Given the description of an element on the screen output the (x, y) to click on. 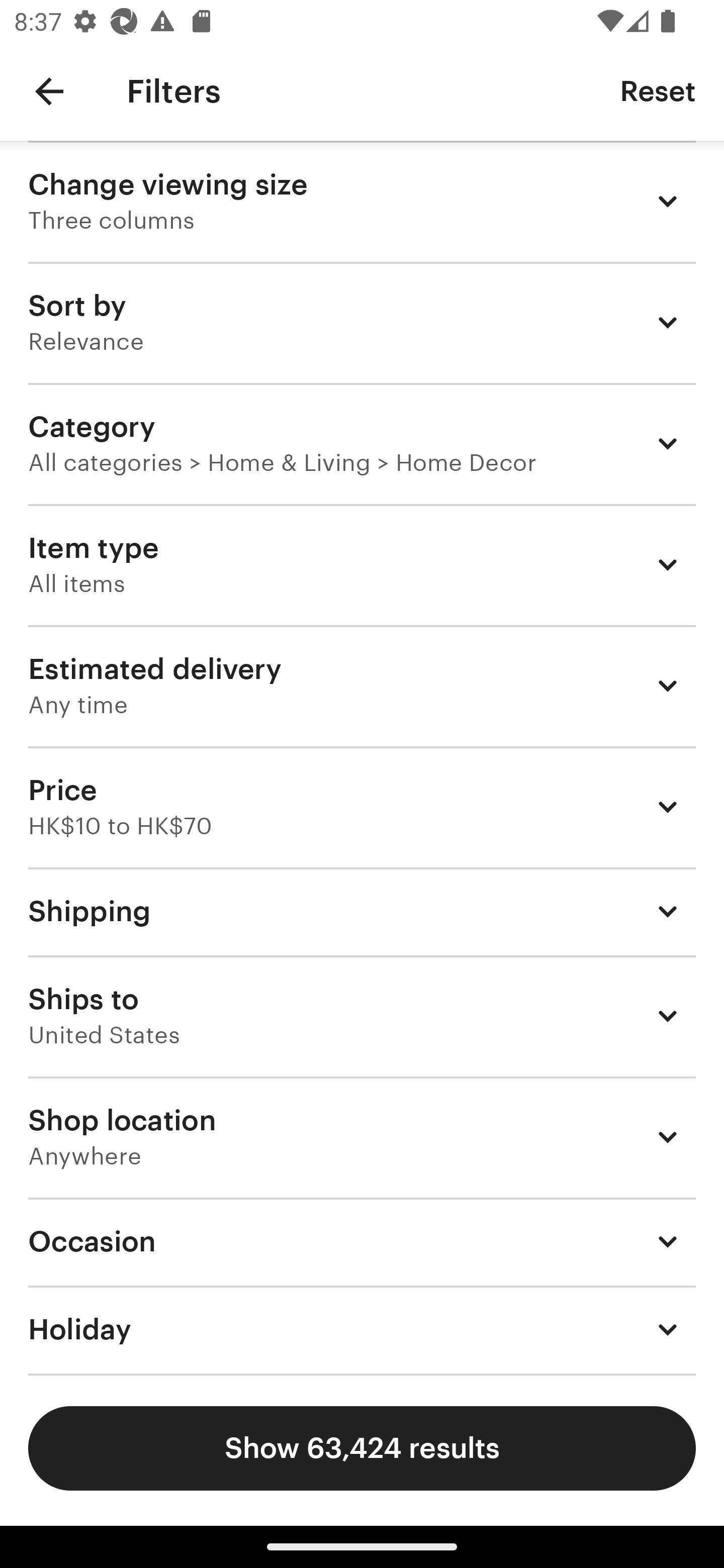
Navigate up (49, 91)
Reset (657, 90)
Change viewing size Three columns (362, 201)
Sort by Relevance (362, 321)
Item type All items (362, 564)
Estimated delivery Any time (362, 685)
Price HK$10 to HK$70 (362, 806)
Shipping (362, 910)
Ships to United States (362, 1015)
Shop location Anywhere (362, 1137)
Occasion (362, 1241)
Holiday (362, 1329)
Show 63,424 results Show results (361, 1448)
